Given the description of an element on the screen output the (x, y) to click on. 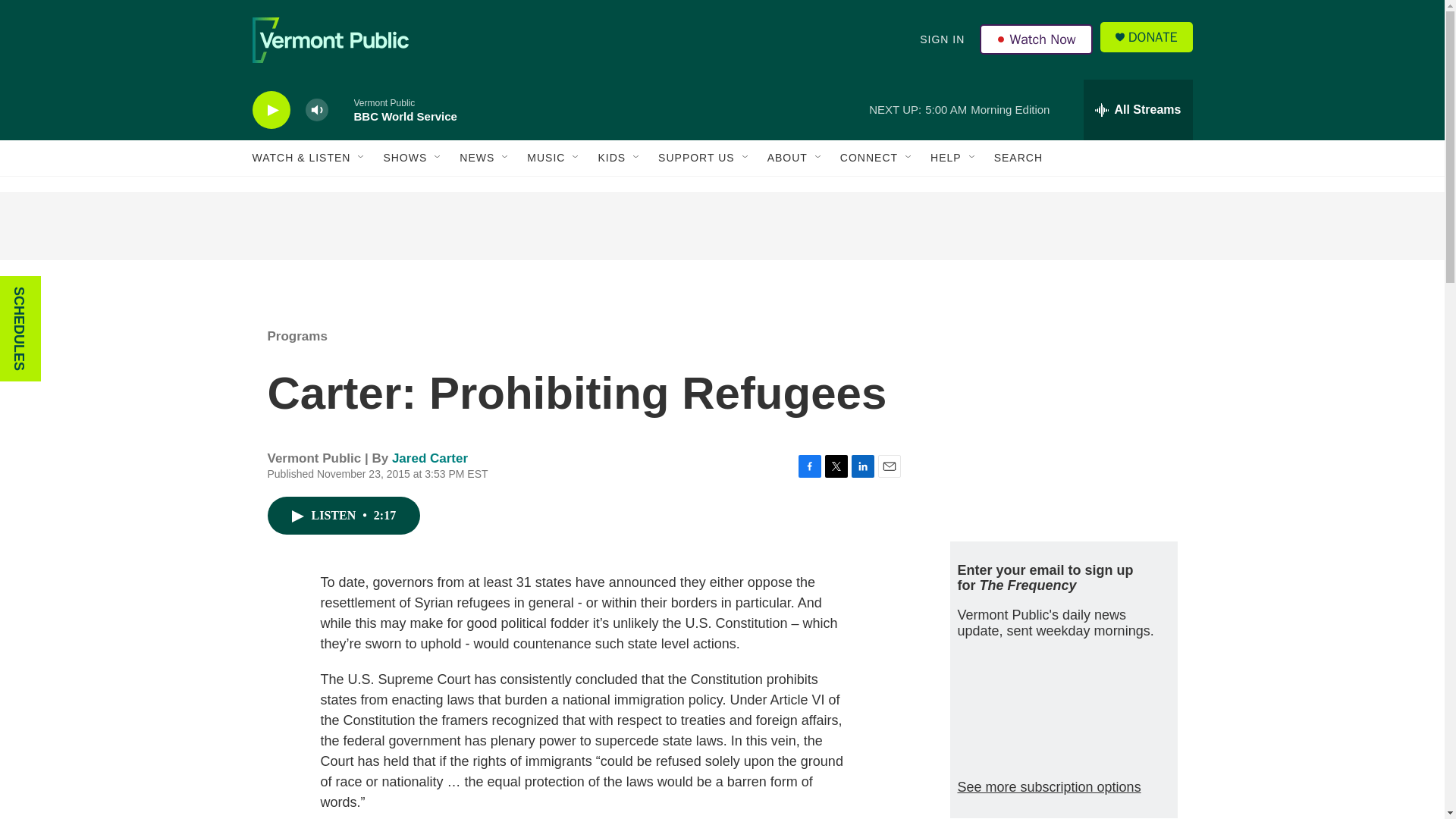
3rd party ad content (1062, 416)
3rd party ad content (721, 225)
